Given the description of an element on the screen output the (x, y) to click on. 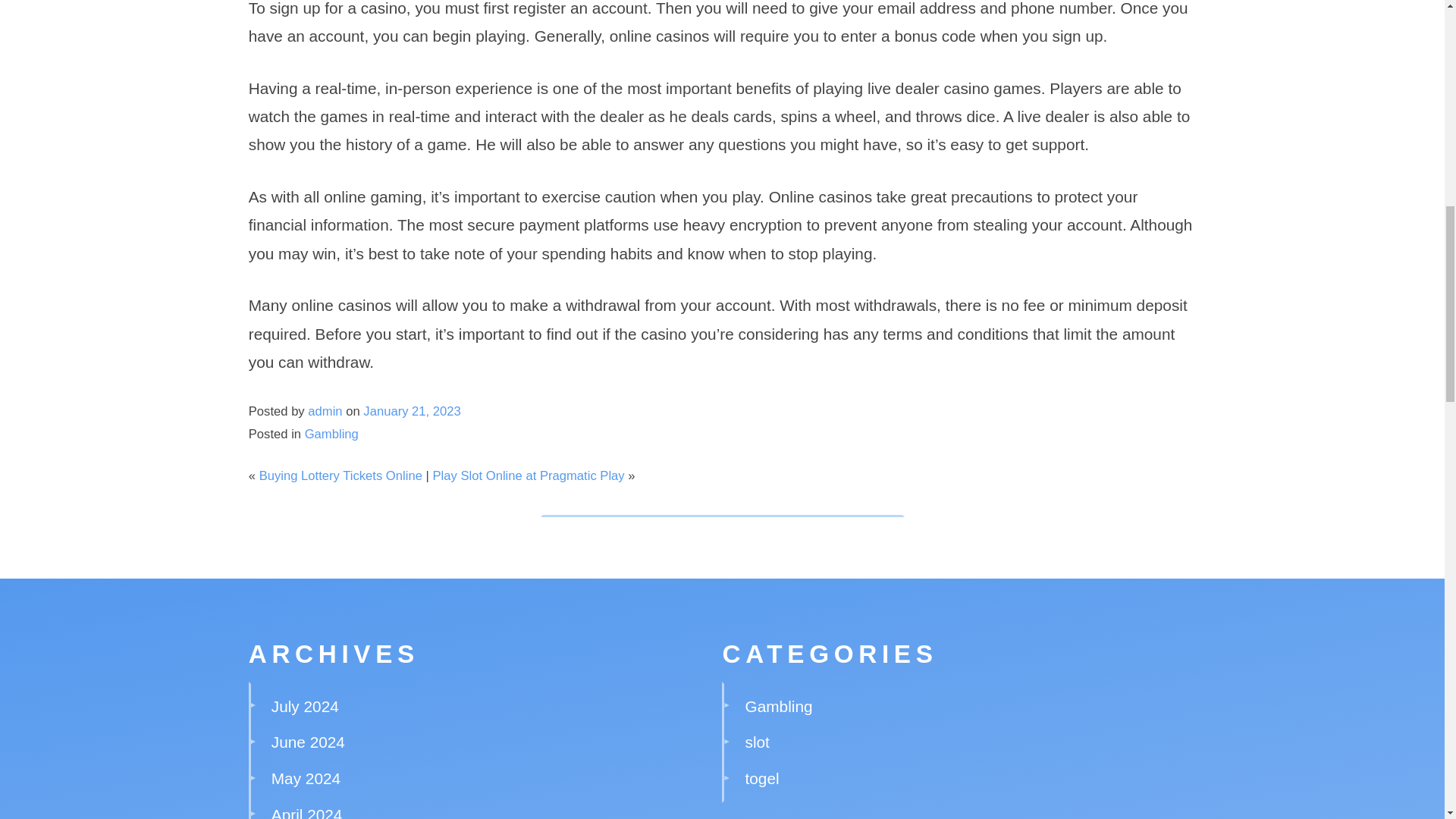
Play Slot Online at Pragmatic Play (528, 475)
January 21, 2023 (411, 411)
Buying Lottery Tickets Online (340, 475)
May 2024 (305, 778)
June 2024 (307, 742)
Gambling (331, 433)
April 2024 (306, 812)
July 2024 (304, 705)
admin (324, 411)
